Given the description of an element on the screen output the (x, y) to click on. 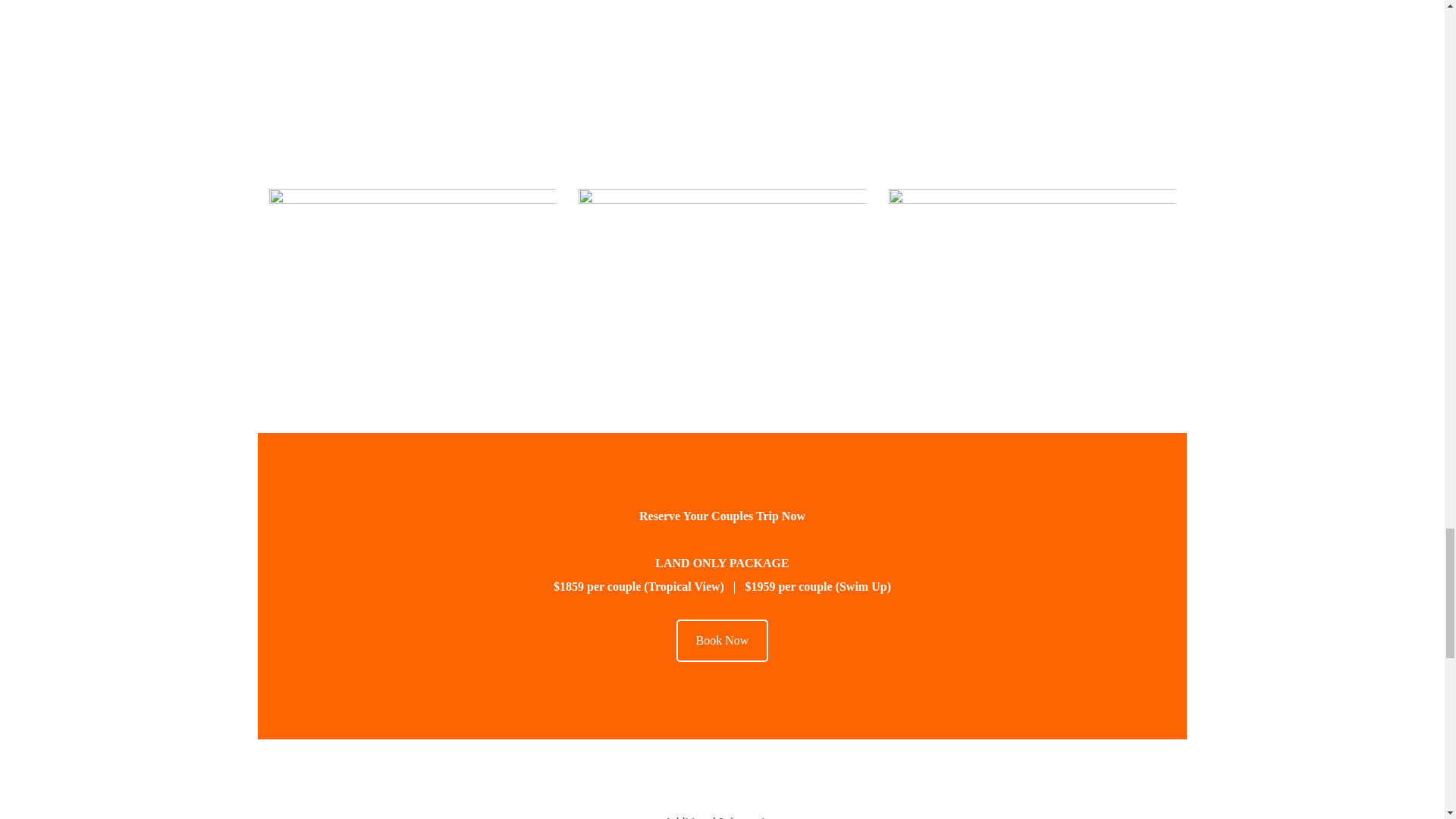
Romantic couple on a beach (412, 284)
Book Now (722, 640)
black couple 2 (1032, 284)
